Given the description of an element on the screen output the (x, y) to click on. 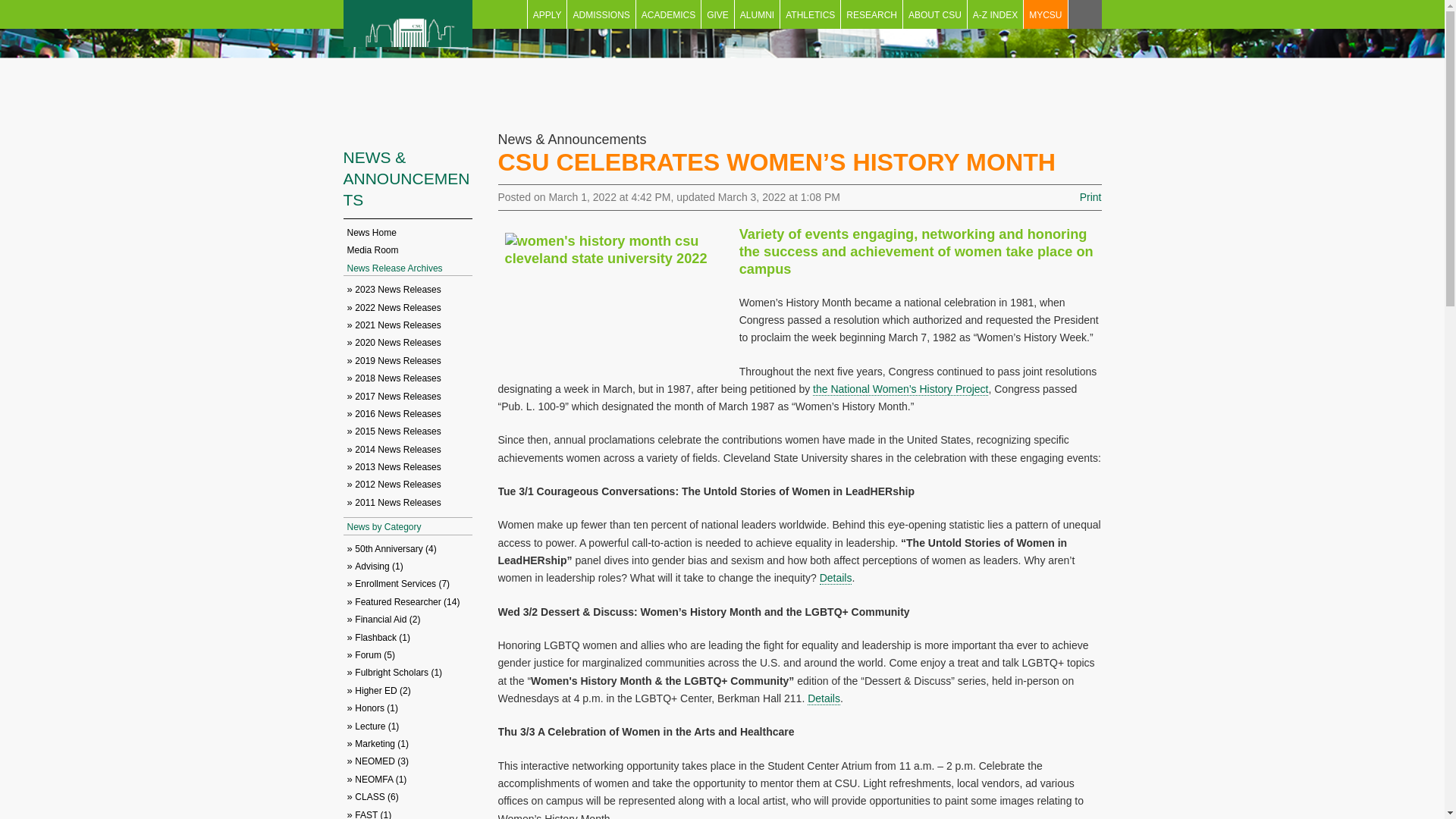
Admissions (600, 14)
ATHLETICS (810, 14)
Academics (668, 14)
ALUMNI (756, 14)
RESEARCH (871, 14)
GIVE (717, 14)
ABOUT CSU (934, 14)
Search this site (1083, 14)
ADMISSIONS (600, 14)
ACADEMICS (668, 14)
APPLY (547, 14)
Home (406, 56)
